Given the description of an element on the screen output the (x, y) to click on. 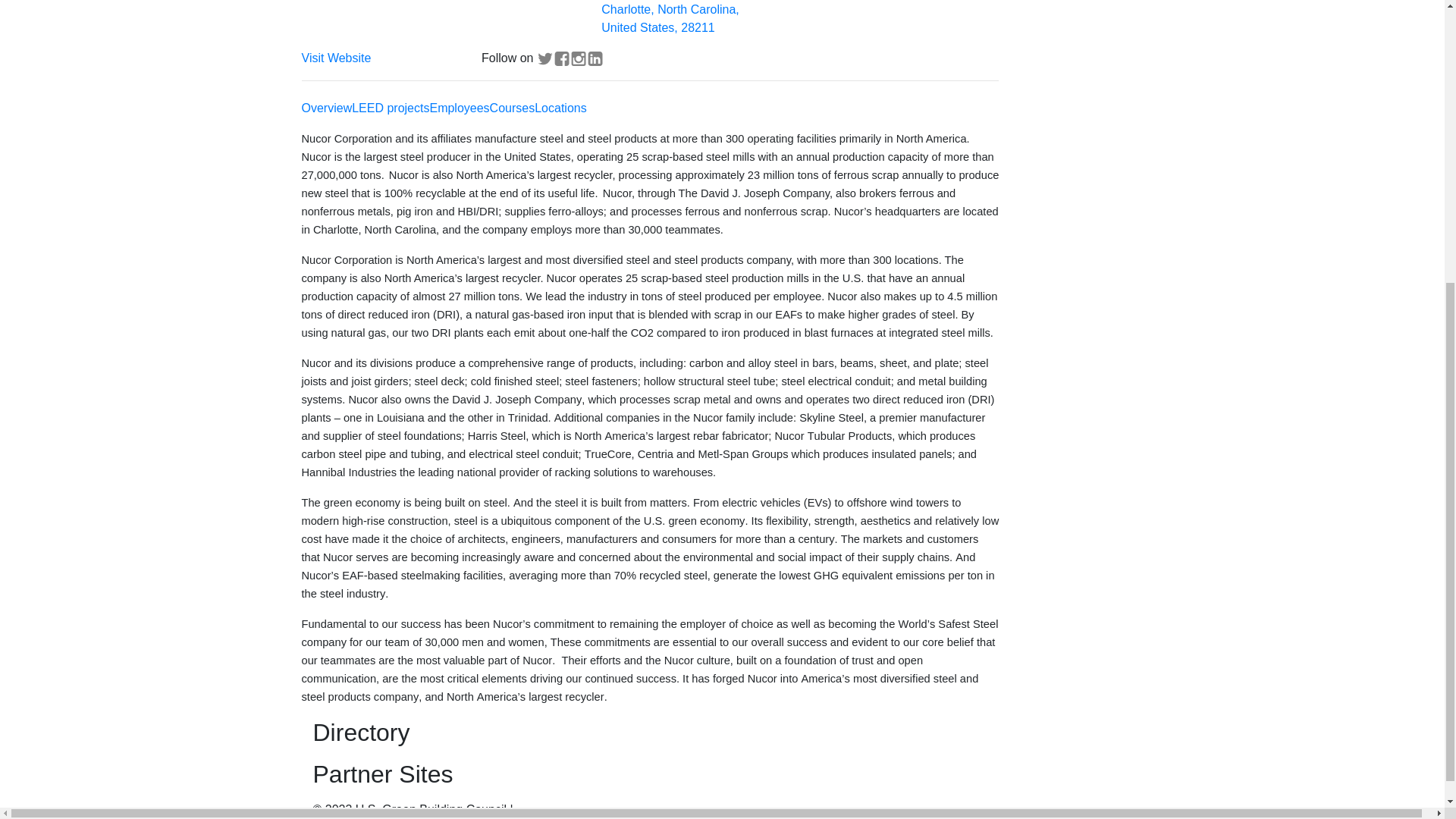
Locations (560, 107)
Visit Website (336, 57)
Employees (459, 107)
LEED projects (390, 107)
Overview (326, 107)
Courses (512, 107)
